Given the description of an element on the screen output the (x, y) to click on. 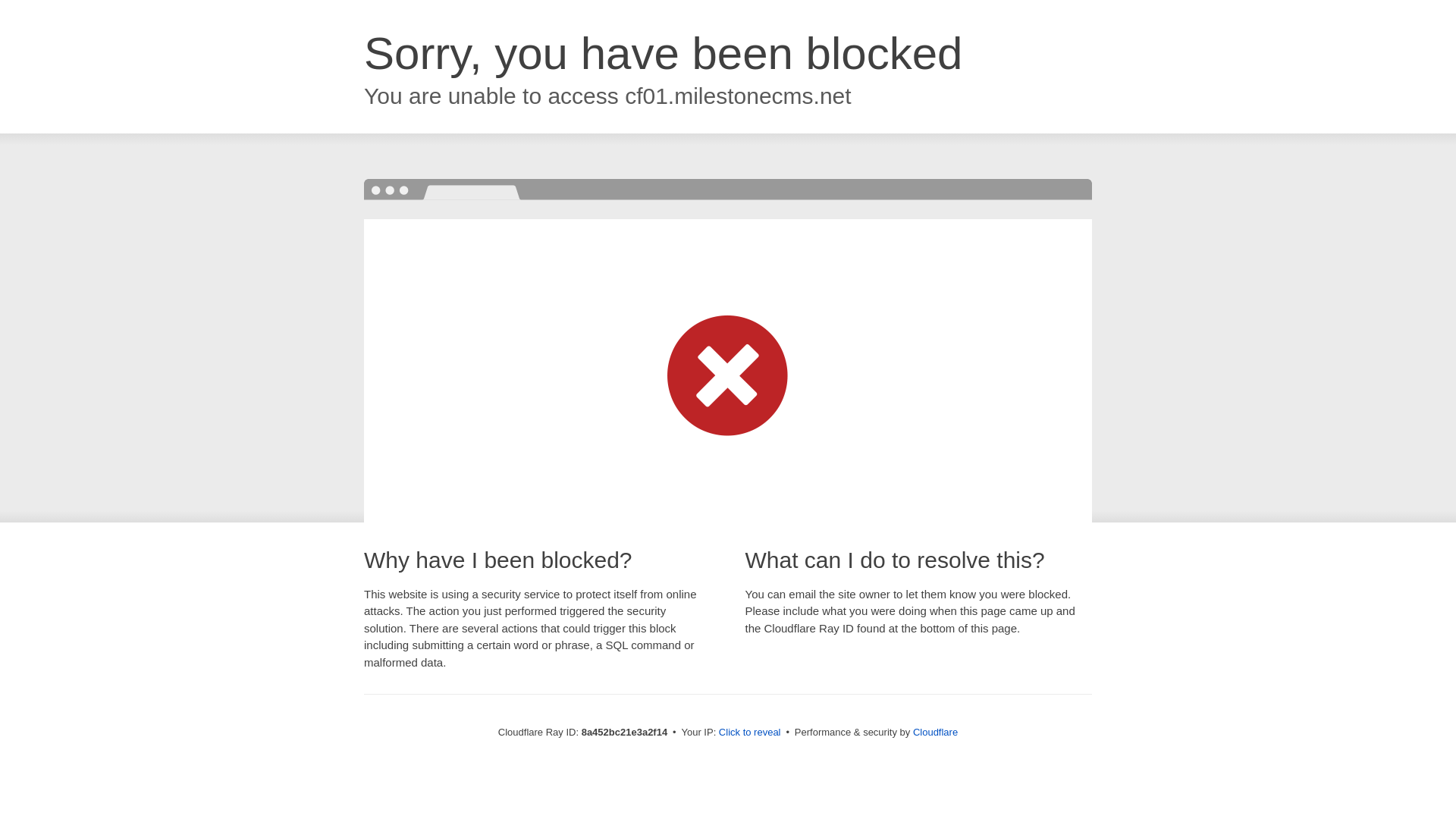
Cloudflare (935, 731)
Click to reveal (749, 732)
